Given the description of an element on the screen output the (x, y) to click on. 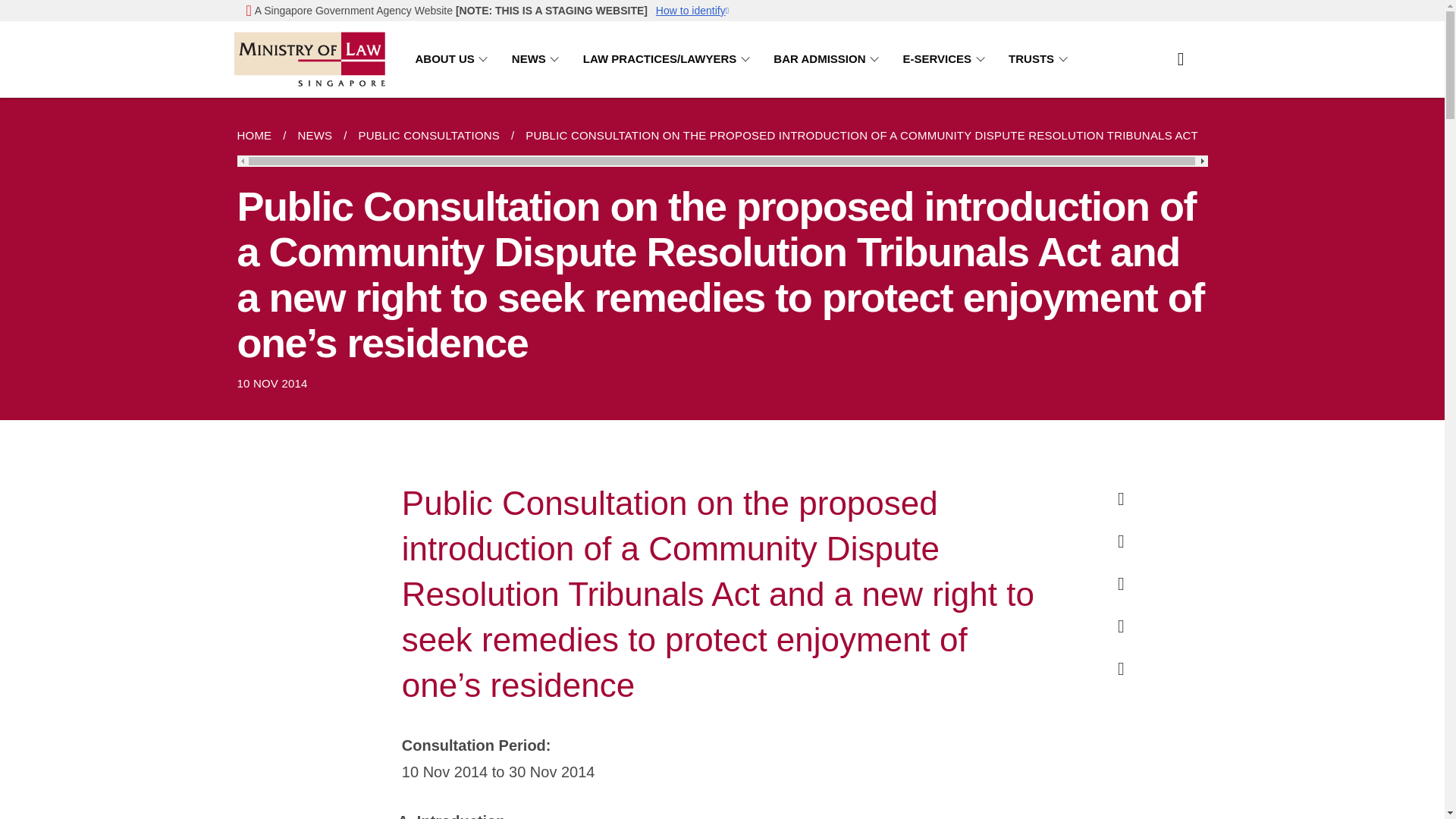
BAR ADMISSION (828, 59)
ABOUT US (453, 59)
E-SERVICES (946, 59)
